Given the description of an element on the screen output the (x, y) to click on. 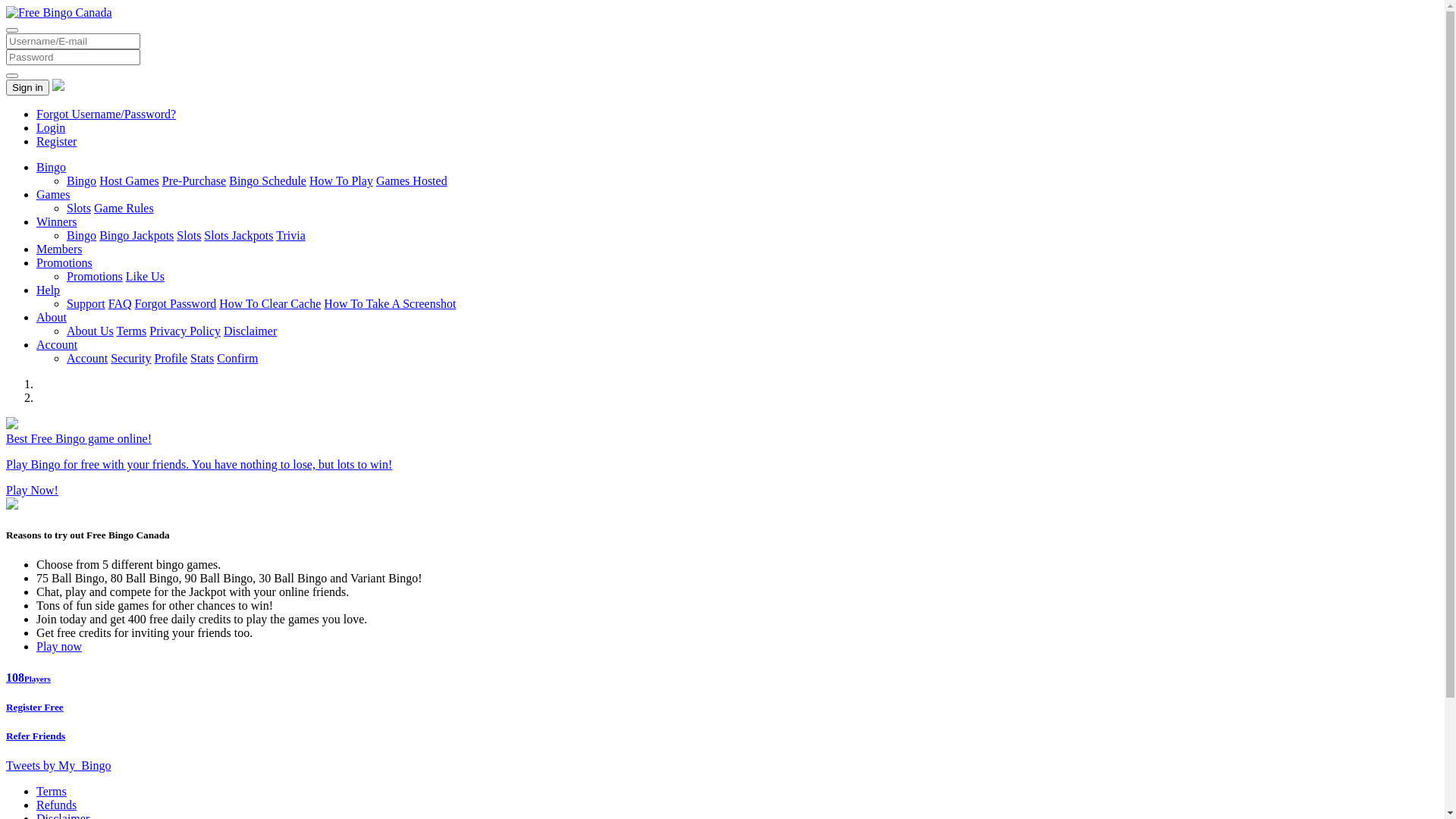
About Element type: text (51, 316)
About Us Element type: text (89, 330)
Support Element type: text (85, 303)
Free Bingo Canada Element type: hover (59, 12)
Members Element type: text (58, 248)
Stats Element type: text (201, 357)
Promotions Element type: text (64, 262)
Terms Element type: text (51, 790)
Games Element type: text (52, 194)
Slots Jackpots Element type: text (238, 235)
Forgot Password Element type: text (175, 303)
Pre-Purchase Element type: text (193, 180)
Privacy Policy Element type: text (184, 330)
Register Element type: text (56, 140)
Game Rules Element type: text (123, 207)
Tweets by My_Bingo Element type: text (58, 765)
Bingo Element type: text (81, 180)
Bingo Jackpots Element type: text (136, 235)
Winners Element type: text (56, 221)
Help Element type: text (47, 289)
Terms Element type: text (131, 330)
Trivia Element type: text (290, 235)
Account Element type: text (86, 357)
Security Element type: text (130, 357)
Slots Element type: text (188, 235)
Host Games Element type: text (129, 180)
108Players Element type: text (722, 677)
Forgot Username/Password? Element type: text (105, 113)
Refunds Element type: text (56, 804)
Account Element type: text (56, 344)
Refer Friends Element type: text (722, 736)
How To Clear Cache Element type: text (269, 303)
Games Hosted Element type: text (411, 180)
Register Free Element type: text (722, 707)
Like Us Element type: text (144, 275)
Promotions Element type: text (94, 275)
How To Take A Screenshot Element type: text (389, 303)
Slots Element type: text (78, 207)
Play now Element type: text (58, 646)
Confirm Element type: text (236, 357)
Bingo Schedule Element type: text (267, 180)
Bingo Element type: text (50, 166)
Login Element type: text (50, 127)
Bingo Element type: text (81, 235)
FAQ Element type: text (119, 303)
Sign in Element type: text (27, 87)
Profile Element type: text (171, 357)
Disclaimer Element type: text (249, 330)
How To Play Element type: text (341, 180)
